Given the description of an element on the screen output the (x, y) to click on. 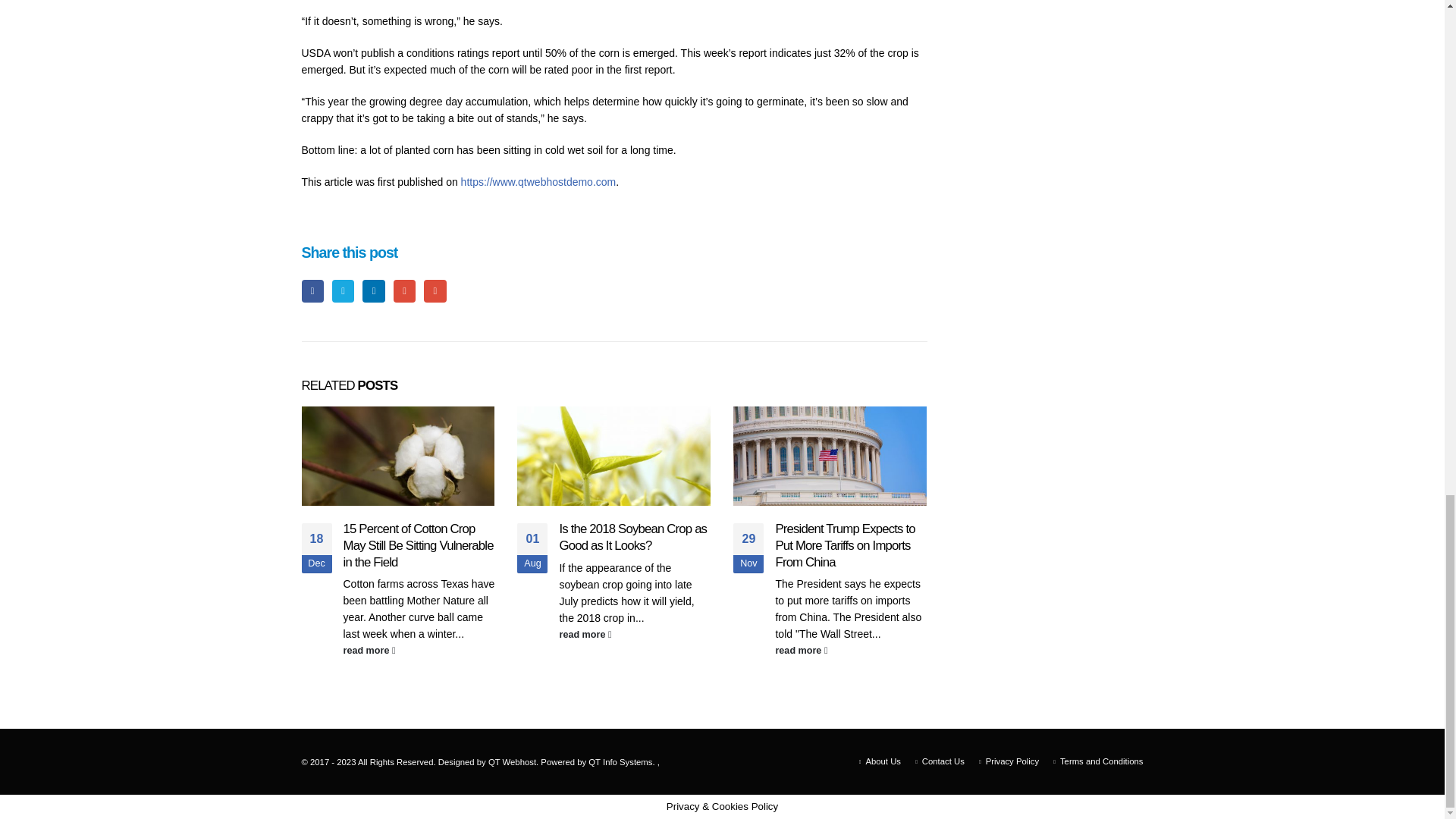
read more (418, 650)
Is the 2018 Soybean Crop as Good as It Looks? (632, 536)
Facebook (312, 291)
Twitter (342, 291)
LinkedIn (373, 291)
read more (850, 650)
Email (434, 291)
Twitter (342, 291)
